Given the description of an element on the screen output the (x, y) to click on. 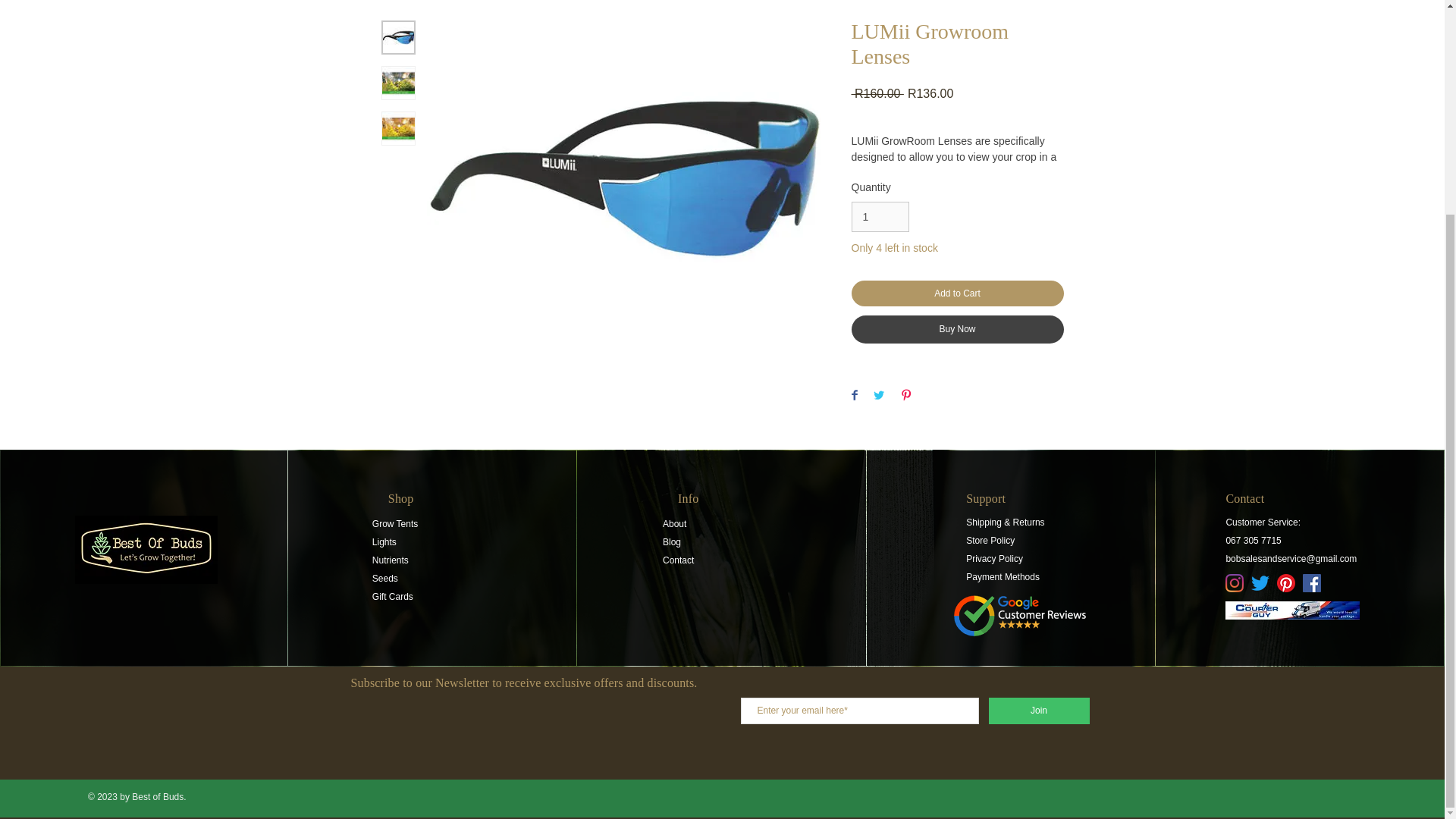
Buy Now (956, 329)
1 (879, 216)
Add to Cart (956, 293)
